Given the description of an element on the screen output the (x, y) to click on. 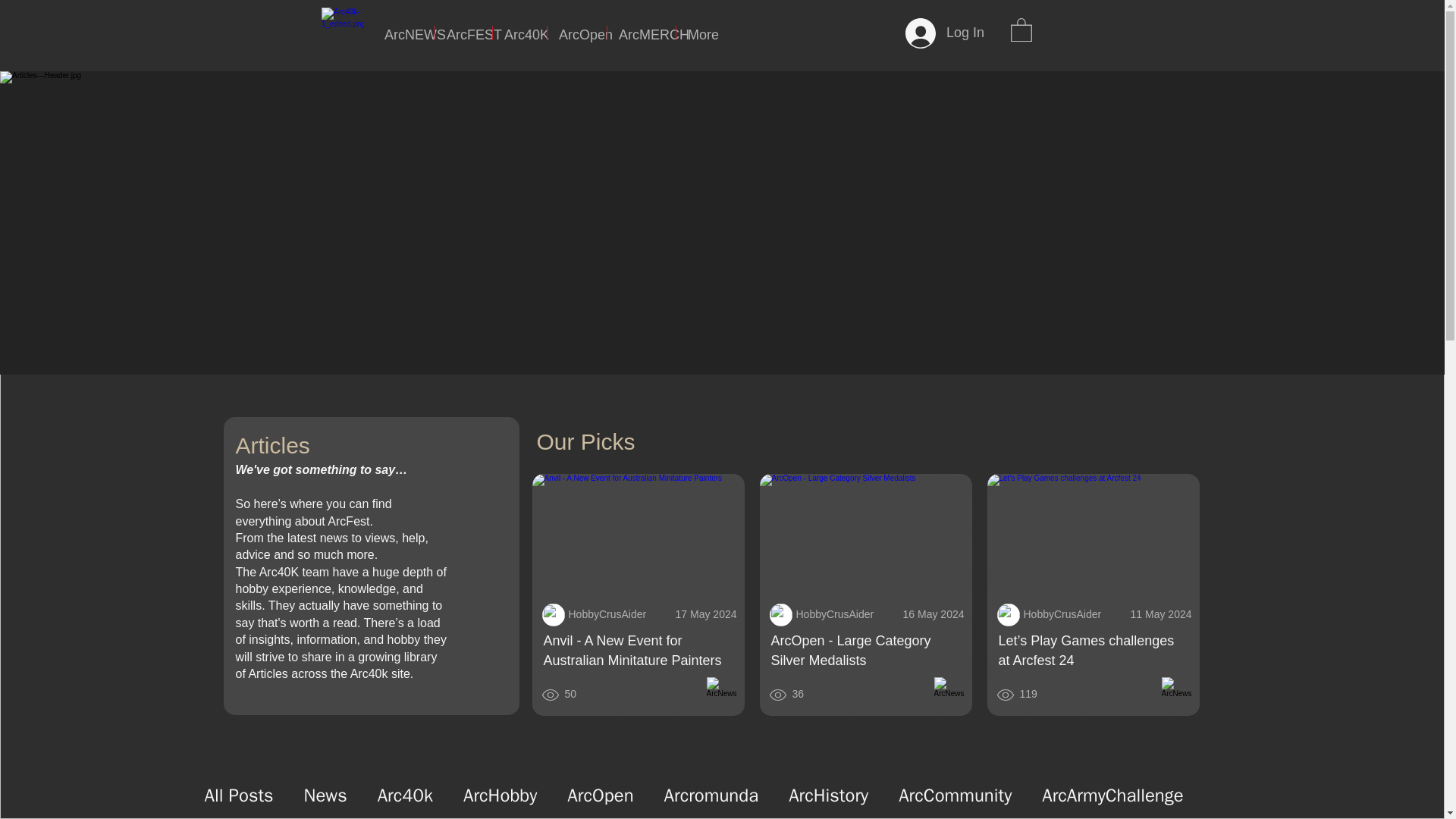
ArcOpen (600, 794)
ArcArmyChallenge (1112, 794)
Female Friends (552, 614)
ArcCommunity (954, 794)
ArcOpen - Large Category Silver Medalists (866, 535)
ArcHobby (500, 794)
Female Friends (1007, 614)
Anvil - A New Event for Australian Minitature Painters (638, 535)
All Posts (239, 794)
News (325, 794)
ArcHistory (828, 794)
ArcMERCH (641, 32)
Arcromunda (710, 794)
ArcNEWS (402, 32)
Log In (944, 33)
